Given the description of an element on the screen output the (x, y) to click on. 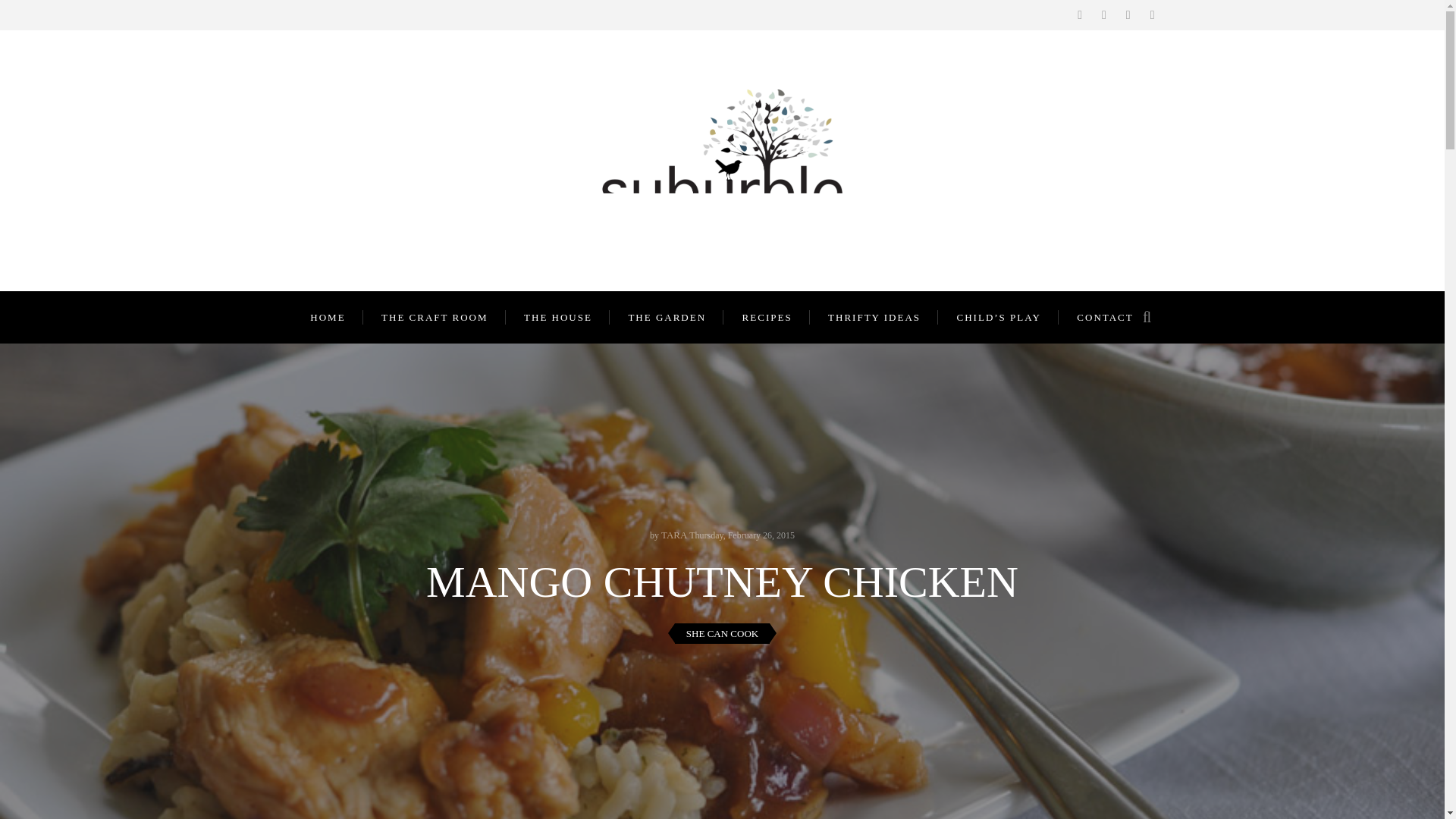
THE GARDEN (667, 317)
THRIFTY IDEAS (874, 317)
SHE CAN COOK (721, 633)
CONTACT (1105, 317)
TARA (674, 534)
HOME (328, 317)
RECIPES (767, 317)
THE CRAFT ROOM (435, 317)
THE HOUSE (559, 317)
